Given the description of an element on the screen output the (x, y) to click on. 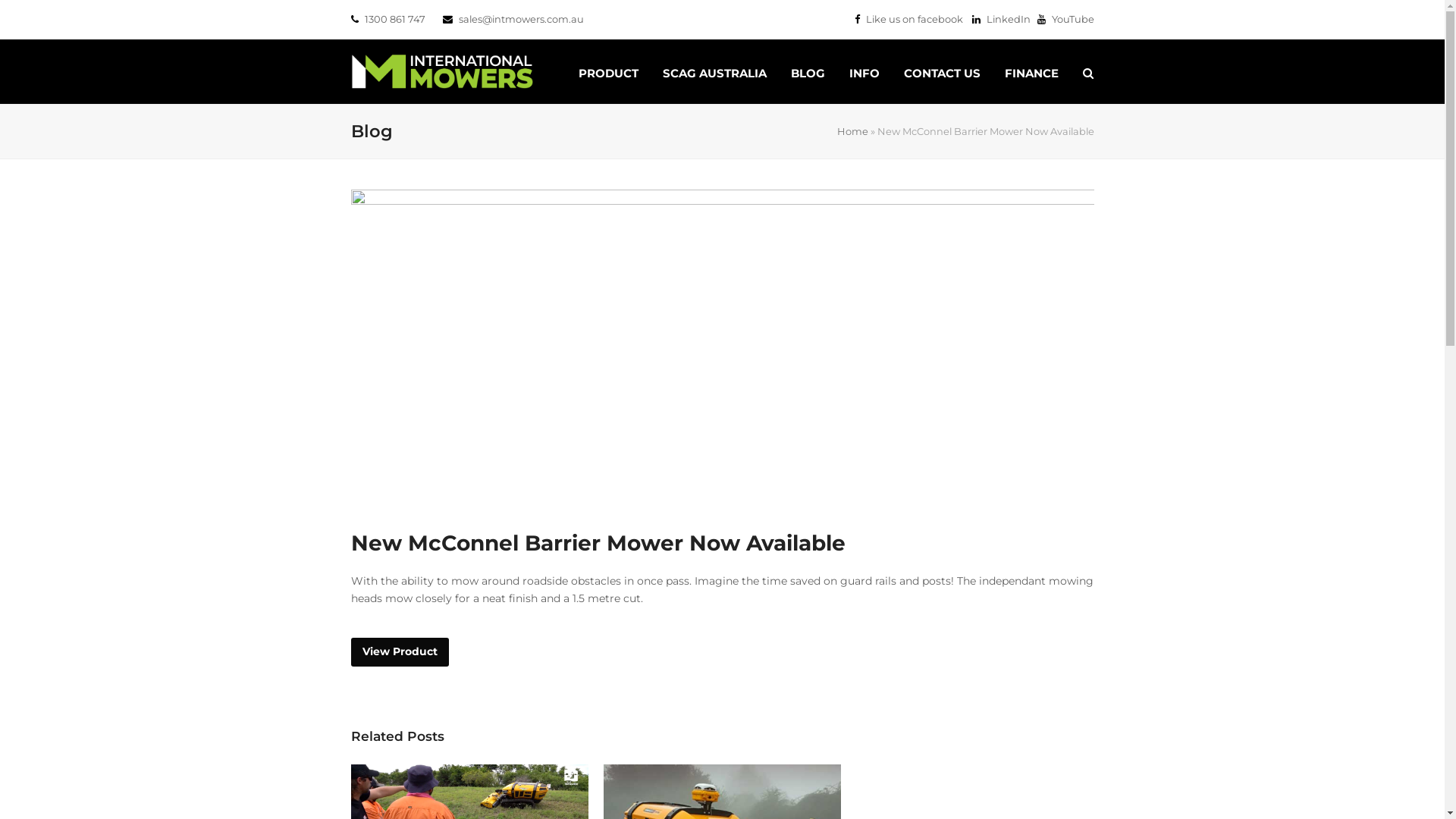
FINANCE Element type: text (1030, 70)
View Product Element type: text (399, 651)
1300 861 747 Element type: text (394, 18)
YouTube Element type: text (1065, 18)
Like us on facebook Element type: text (907, 18)
SCAG AUSTRALIA Element type: text (714, 70)
LinkedIn Element type: text (1001, 18)
INFO Element type: text (864, 70)
CONTACT US Element type: text (941, 70)
PRODUCT Element type: text (607, 70)
sales@intmowers.com.au Element type: text (520, 18)
BLOG Element type: text (807, 70)
Home Element type: text (852, 131)
